Given the description of an element on the screen output the (x, y) to click on. 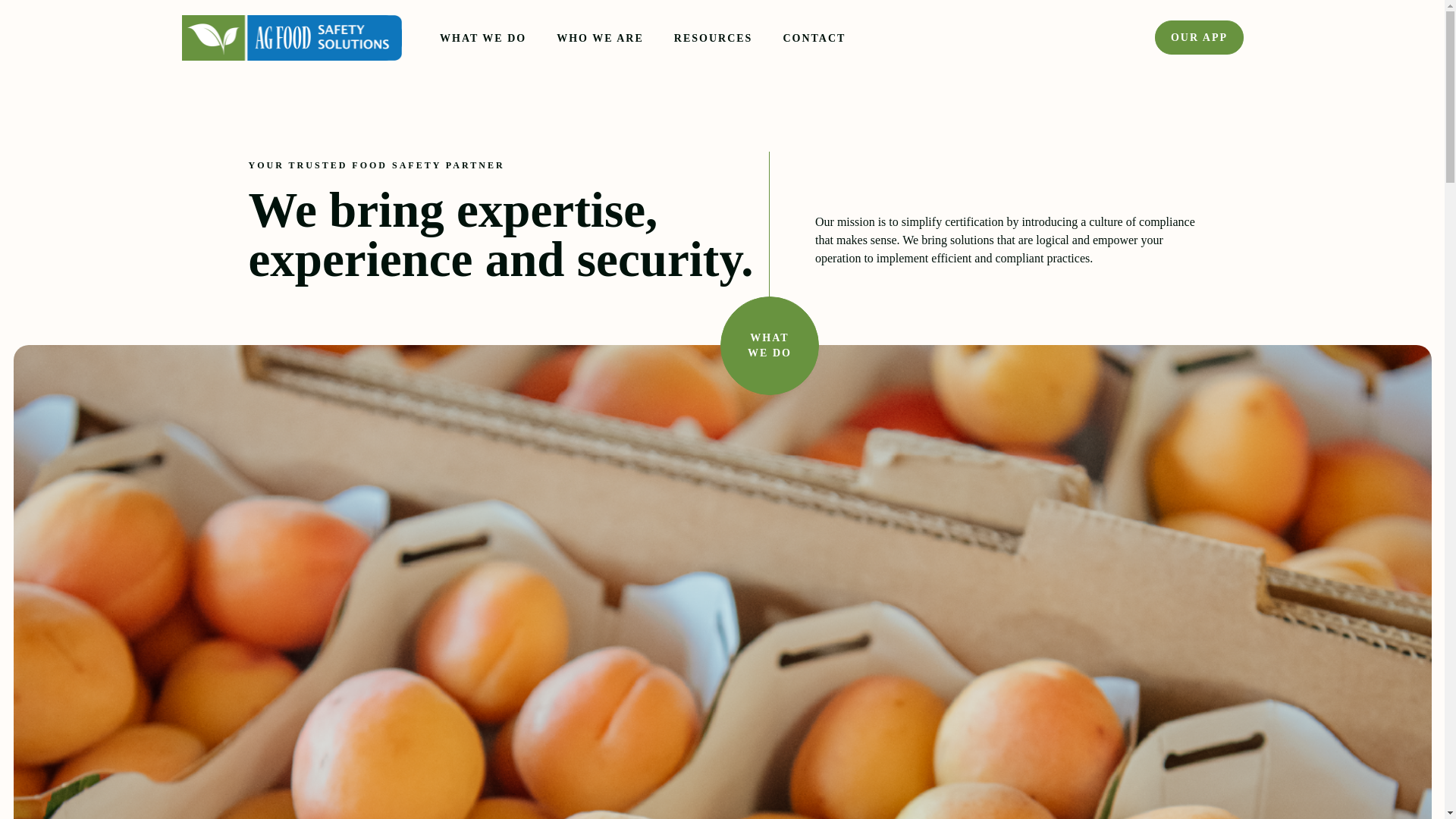
RESOURCES (713, 38)
WHAT WE DO (482, 38)
OUR APP (1198, 37)
WHO WE ARE (599, 38)
CONTACT (814, 38)
WHAT WE DO (769, 345)
